Given the description of an element on the screen output the (x, y) to click on. 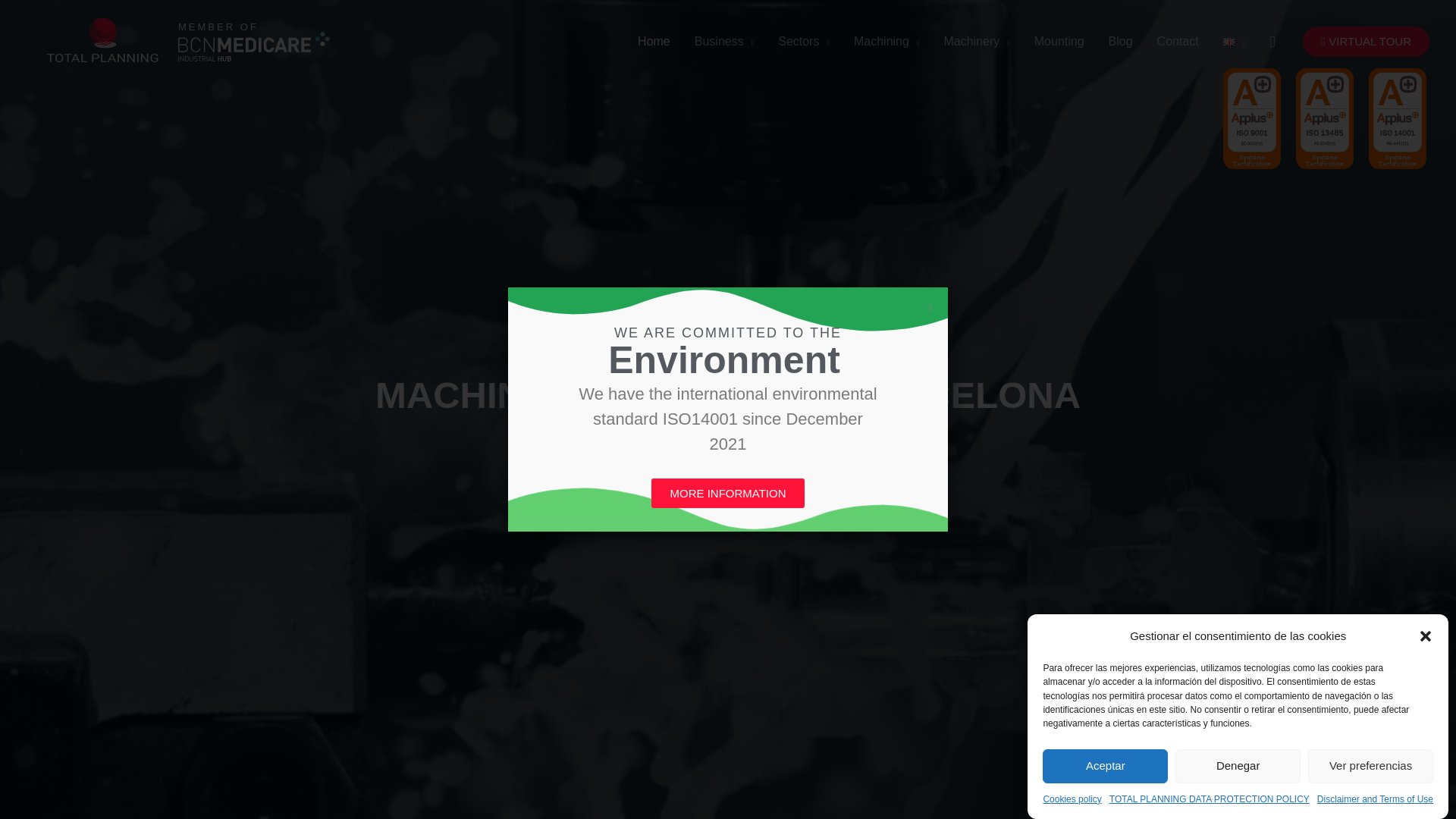
Sectors (803, 41)
Machining (886, 41)
Business (723, 41)
Home (654, 41)
VIRTUAL TOUR (1366, 41)
